Given the description of an element on the screen output the (x, y) to click on. 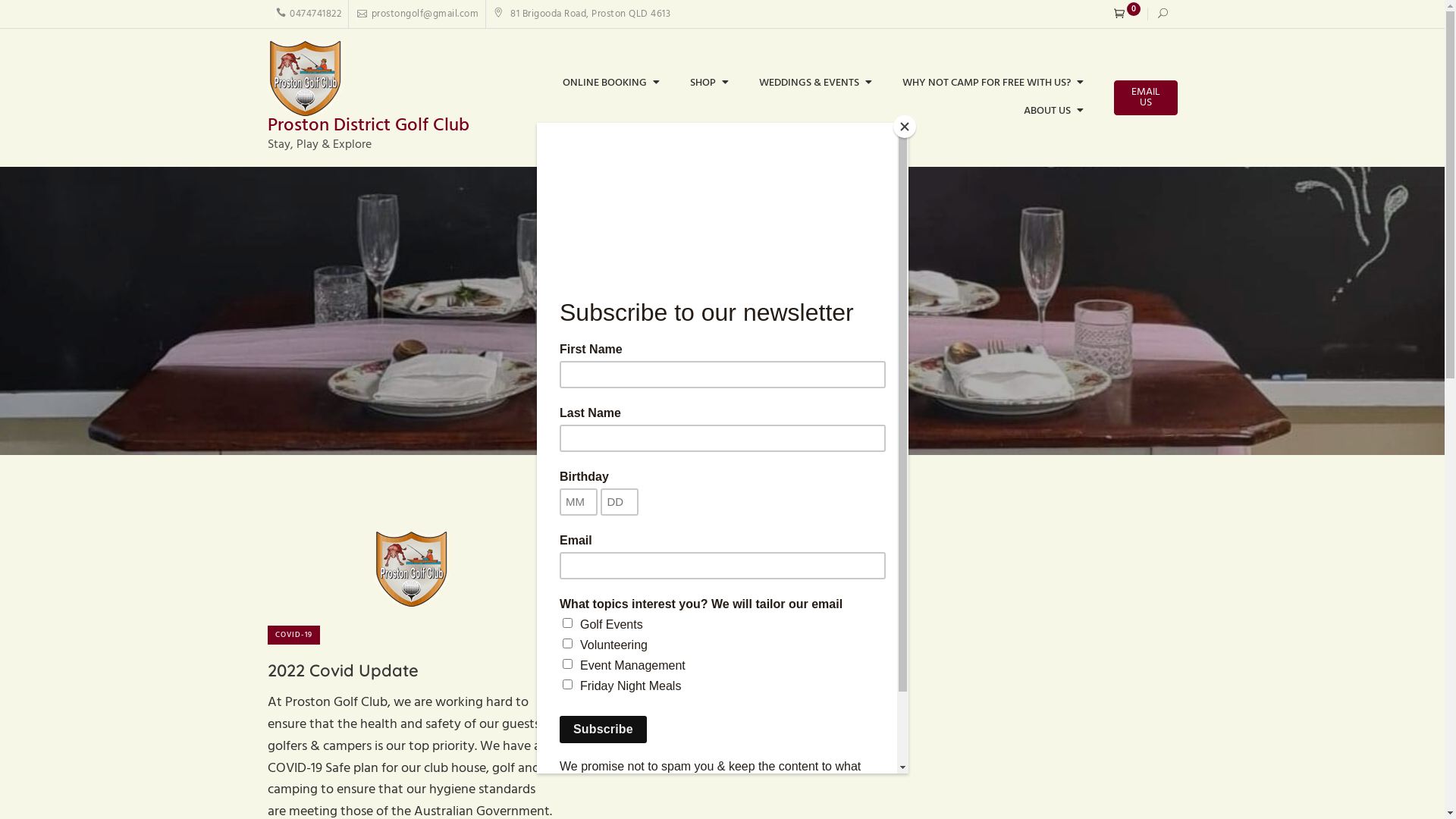
WEDDINGS & EVENTS Element type: text (815, 83)
Search Element type: text (31, 17)
SHOP Element type: text (709, 83)
2022 Covid Update Element type: text (341, 669)
WHY NOT CAMP FOR FREE WITH US? Element type: text (992, 83)
ONLINE BOOKING Element type: text (610, 83)
ABOUT US Element type: text (1053, 111)
prostongolf@gmail.com Element type: text (417, 13)
EMAIL US Element type: text (1144, 97)
Home Element type: text (667, 432)
0474741822 Element type: text (307, 13)
2022 Element type: text (702, 432)
COVID-19 Element type: text (292, 634)
Proston District Golf Club Element type: text (367, 125)
January Element type: text (747, 432)
0 Element type: text (1126, 13)
